Given the description of an element on the screen output the (x, y) to click on. 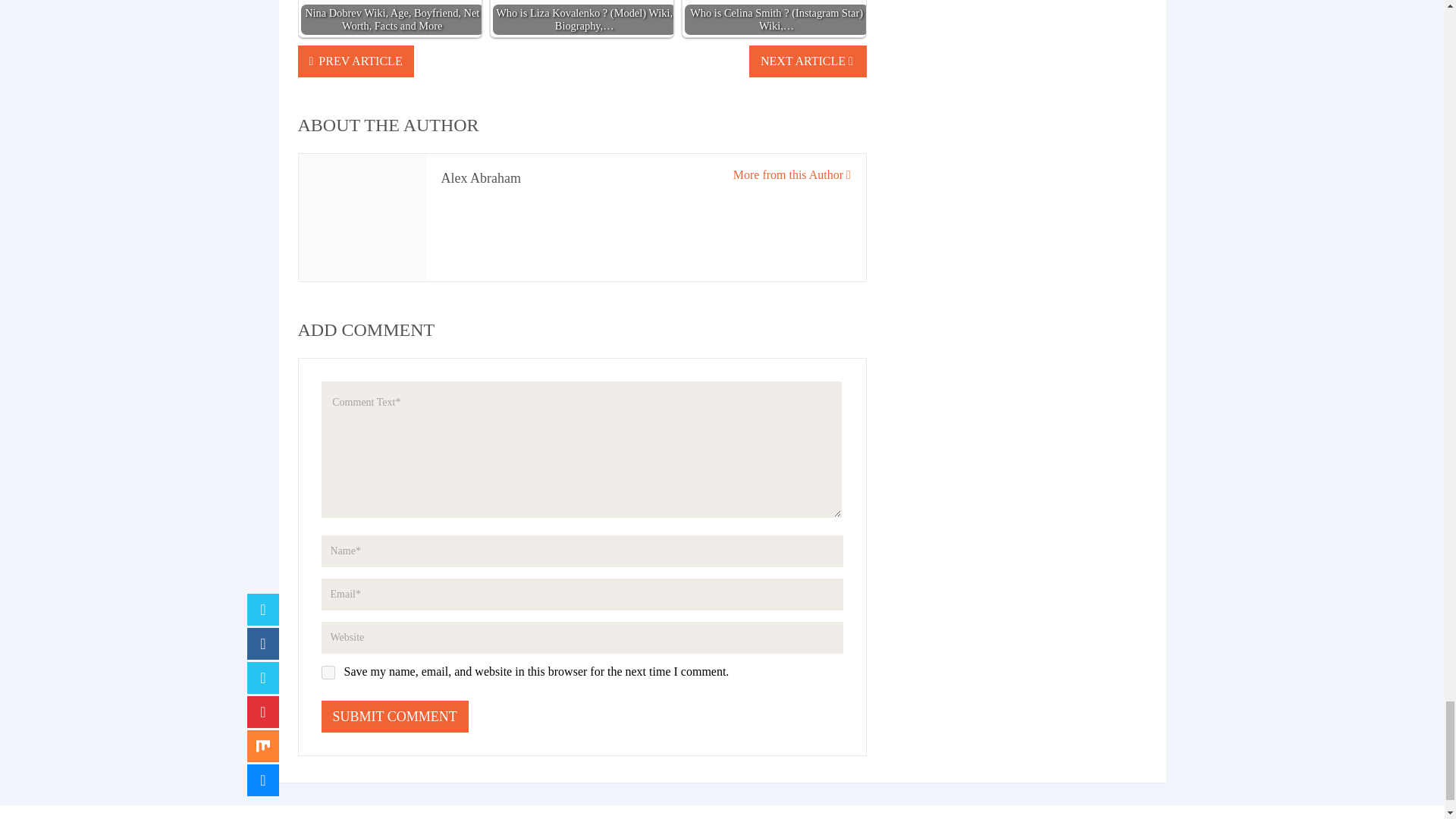
yes (327, 672)
Submit Comment (394, 716)
